Given the description of an element on the screen output the (x, y) to click on. 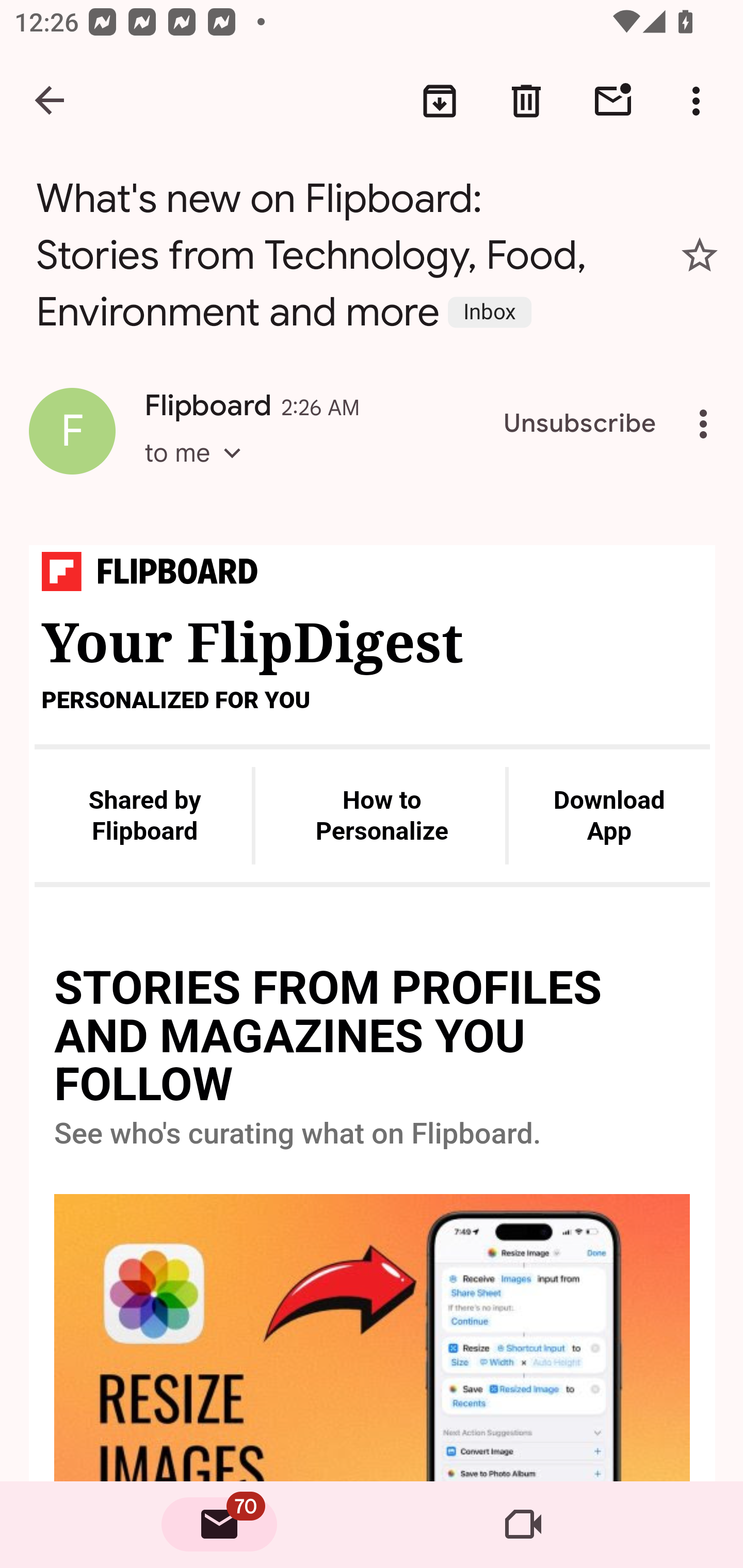
Navigate up (50, 101)
Archive (439, 101)
Delete (525, 101)
Mark unread (612, 101)
More options (699, 101)
Add star (699, 254)
Unsubscribe (579, 424)
More options (706, 424)
Show contact information for Flipboard (71, 431)
to me (199, 471)
Meet (523, 1524)
